Given the description of an element on the screen output the (x, y) to click on. 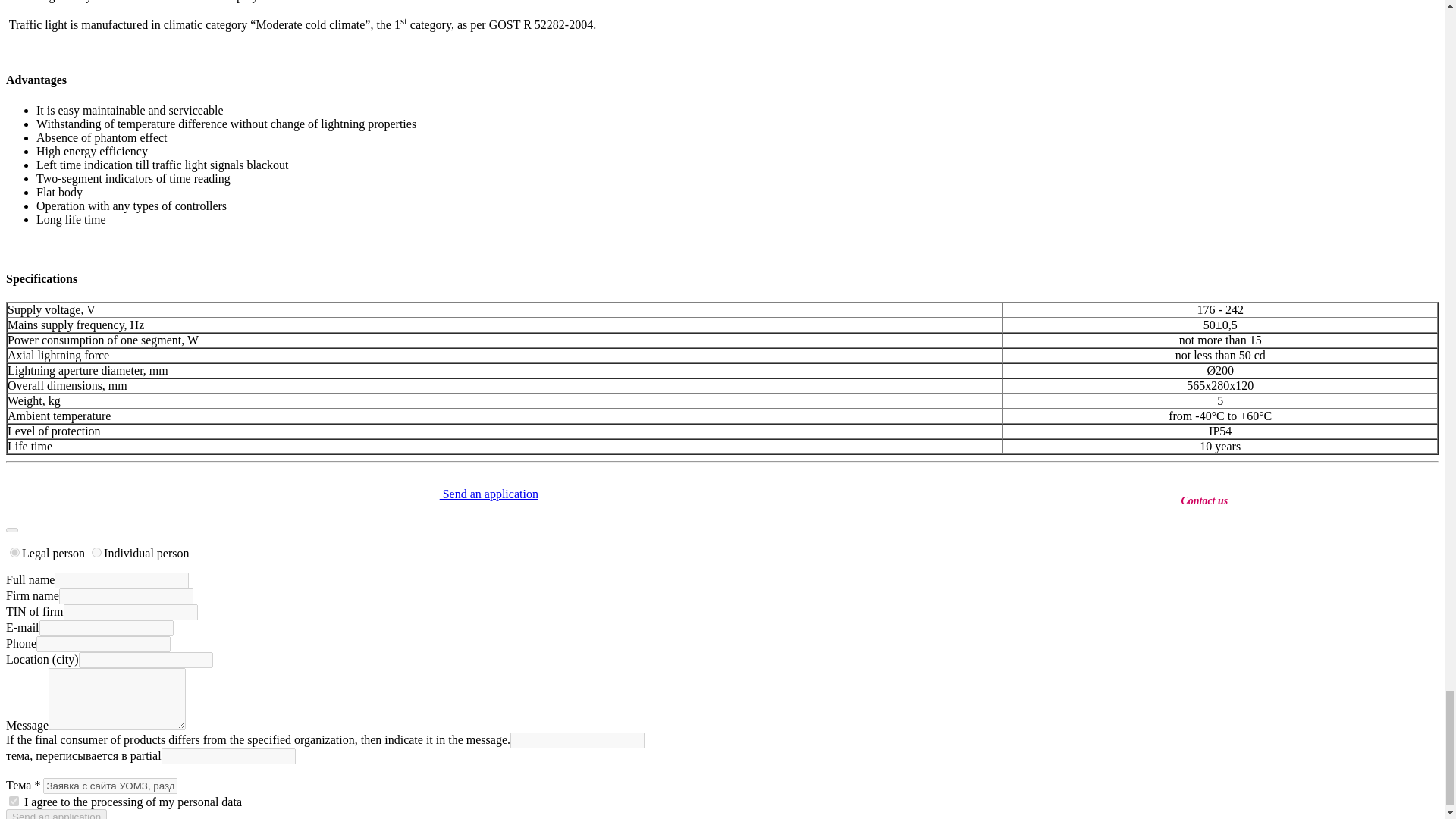
individual person (96, 552)
legal person (15, 552)
1 (13, 800)
